Given the description of an element on the screen output the (x, y) to click on. 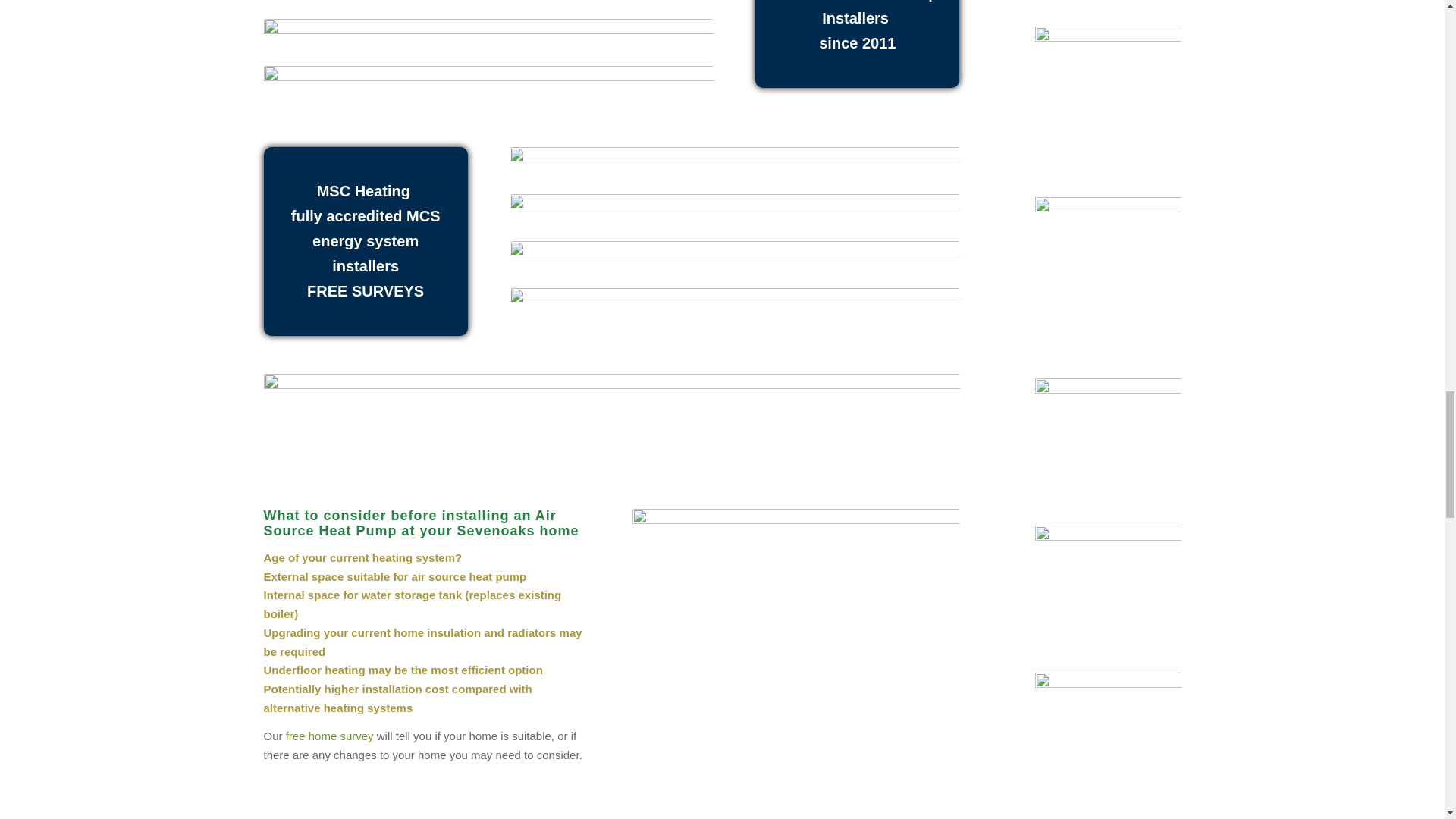
free home survey (329, 735)
air-source-heat-pumps-running-costs (488, 40)
air-source-heat-pumps-grants (734, 168)
air-source-heat-pumps-low-maintenence (488, 87)
air-source-heat-pumps-co2emissions (488, 7)
air-source-heat-pumps-all-year-round (734, 215)
